Given the description of an element on the screen output the (x, y) to click on. 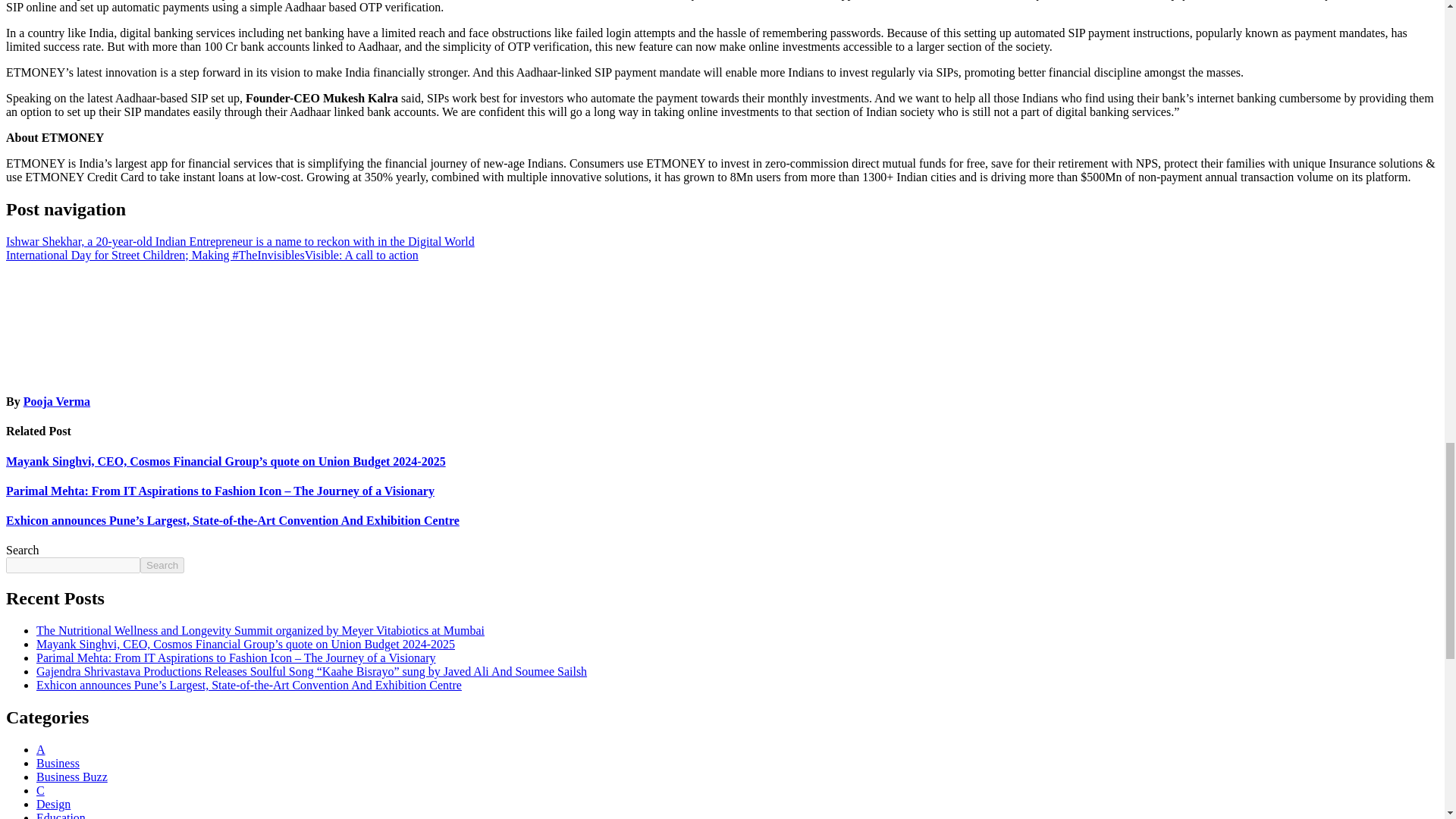
Pooja Verma (56, 400)
